Given the description of an element on the screen output the (x, y) to click on. 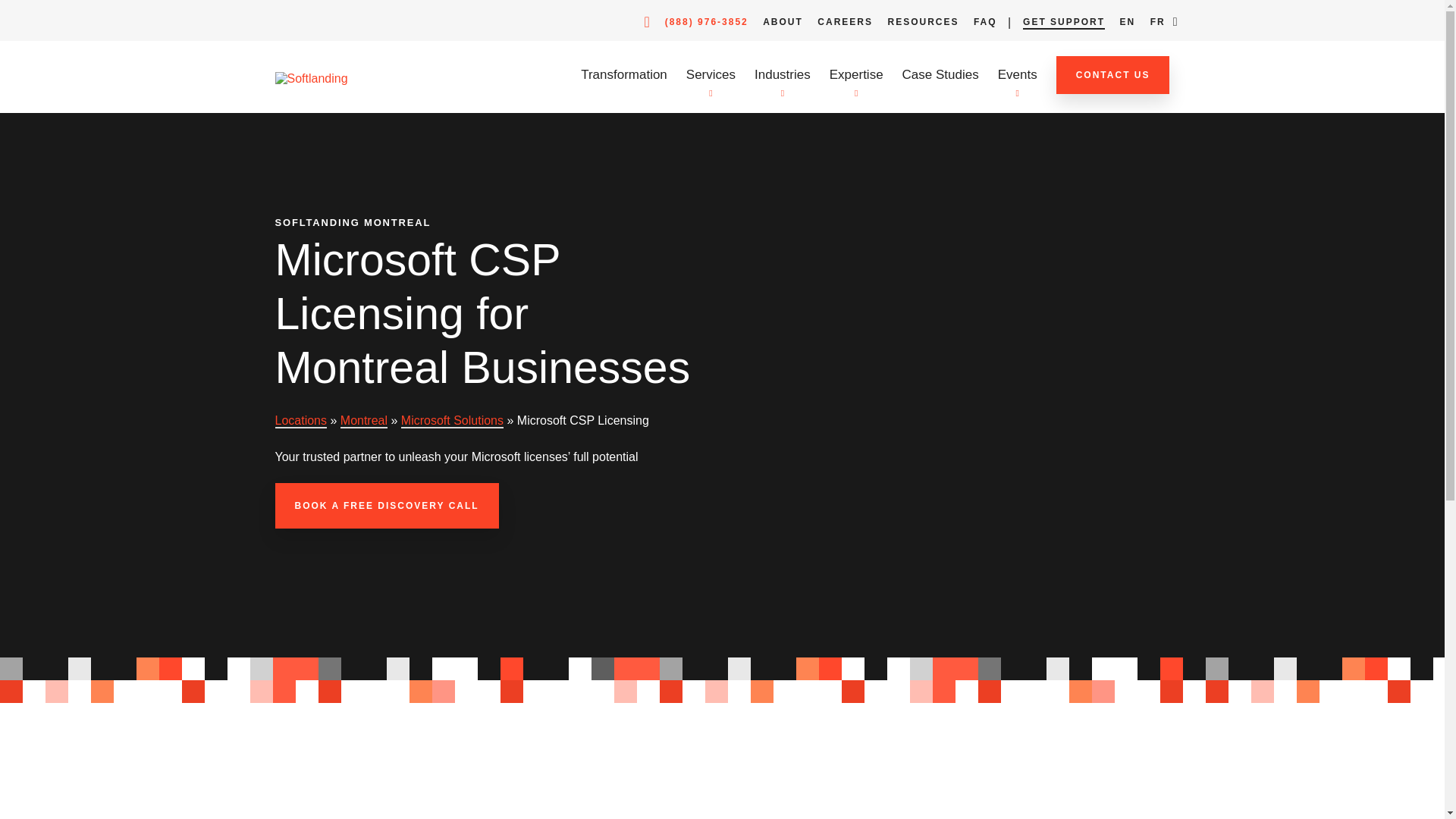
ABOUT (782, 23)
Transformation (623, 74)
Industries (782, 74)
English (1127, 23)
RESOURCES (922, 23)
FR (1158, 23)
EN (1127, 23)
Services (710, 74)
Softlanding (311, 78)
FAQ (985, 23)
GET SUPPORT (1064, 23)
CAREERS (844, 23)
